Given the description of an element on the screen output the (x, y) to click on. 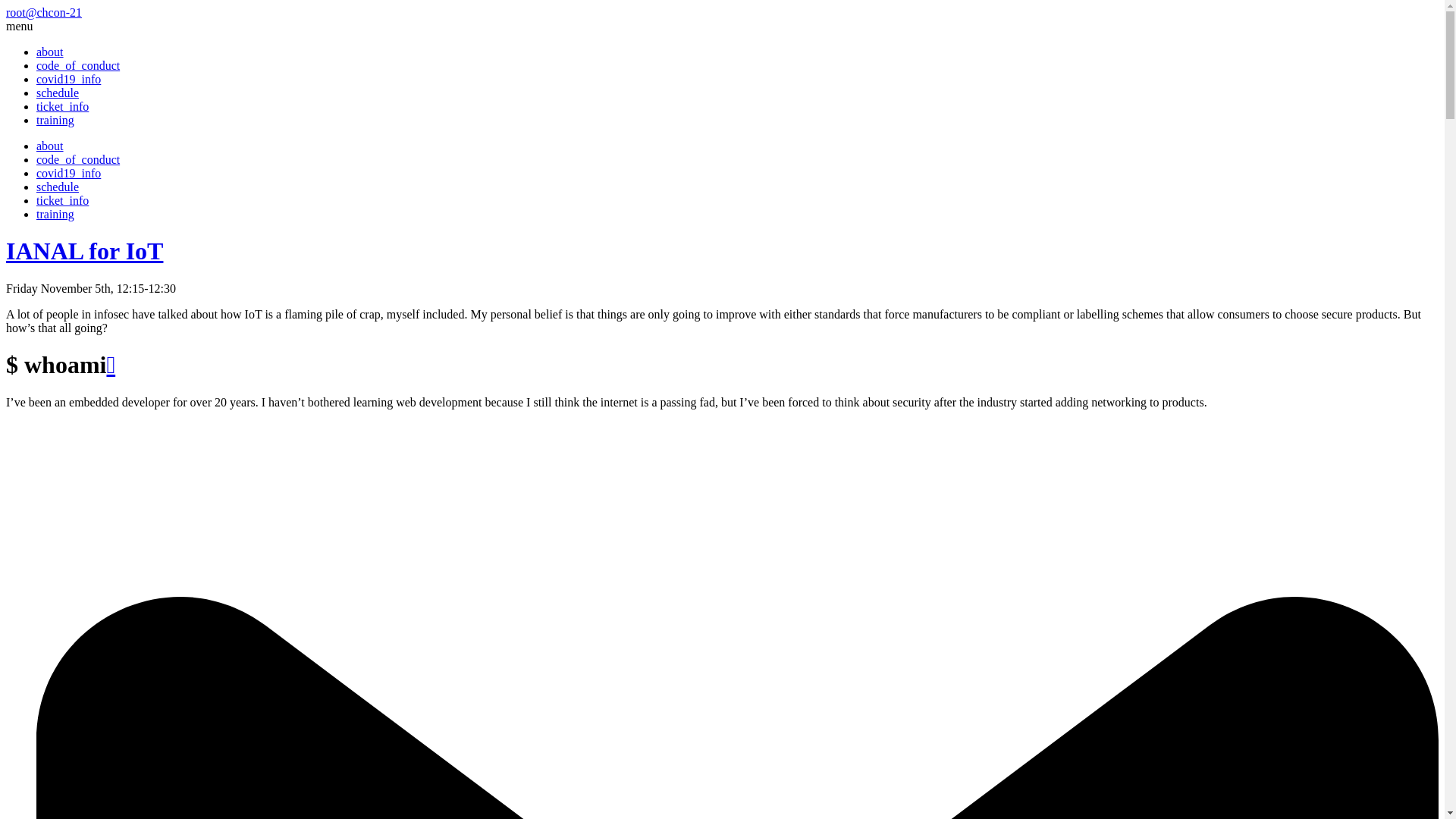
about (50, 51)
training (55, 119)
schedule (57, 92)
schedule (57, 186)
about (50, 145)
IANAL for IoT (84, 250)
training (55, 214)
